Given the description of an element on the screen output the (x, y) to click on. 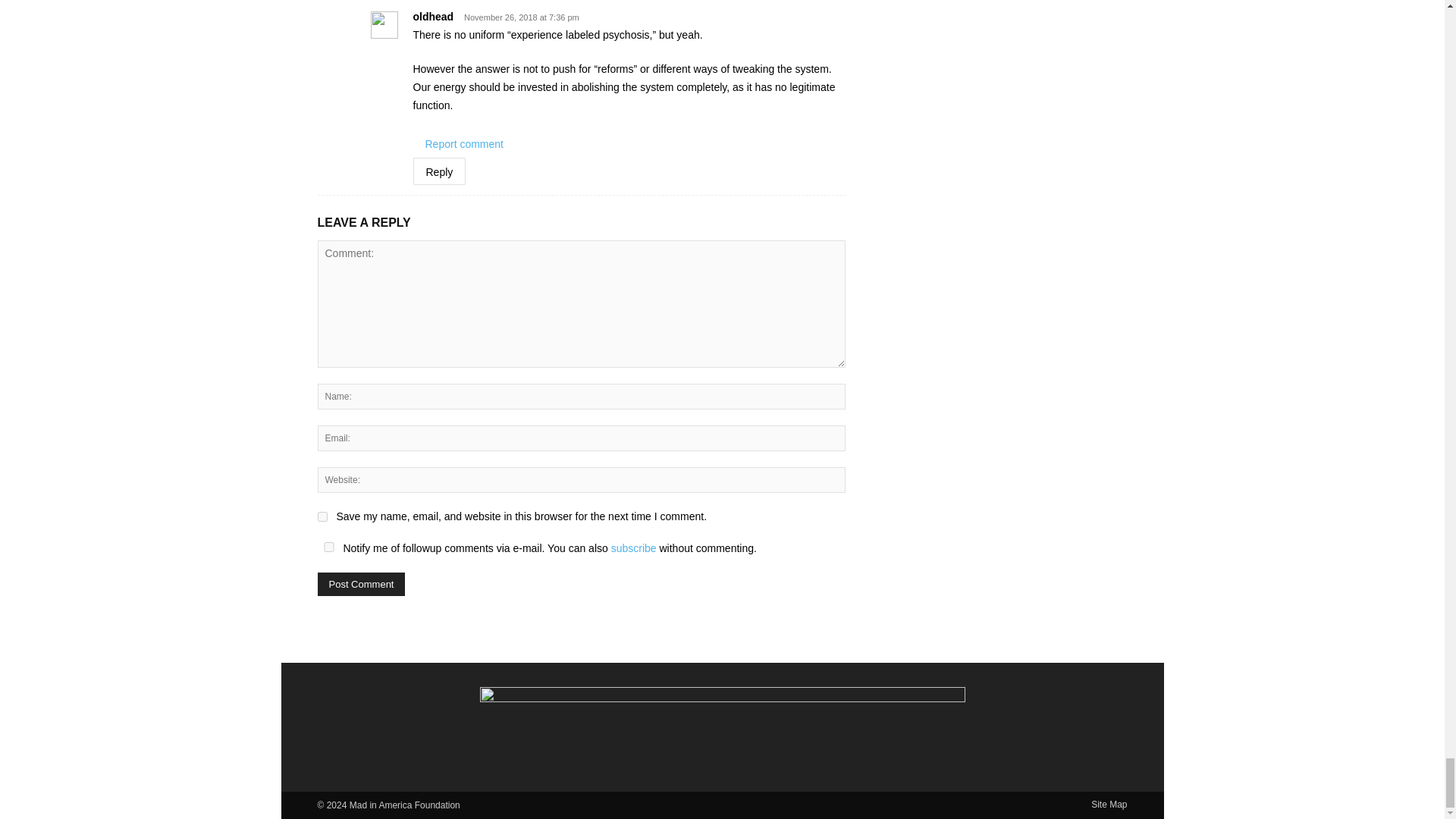
yes (328, 547)
yes (321, 516)
Post Comment (360, 584)
